Given the description of an element on the screen output the (x, y) to click on. 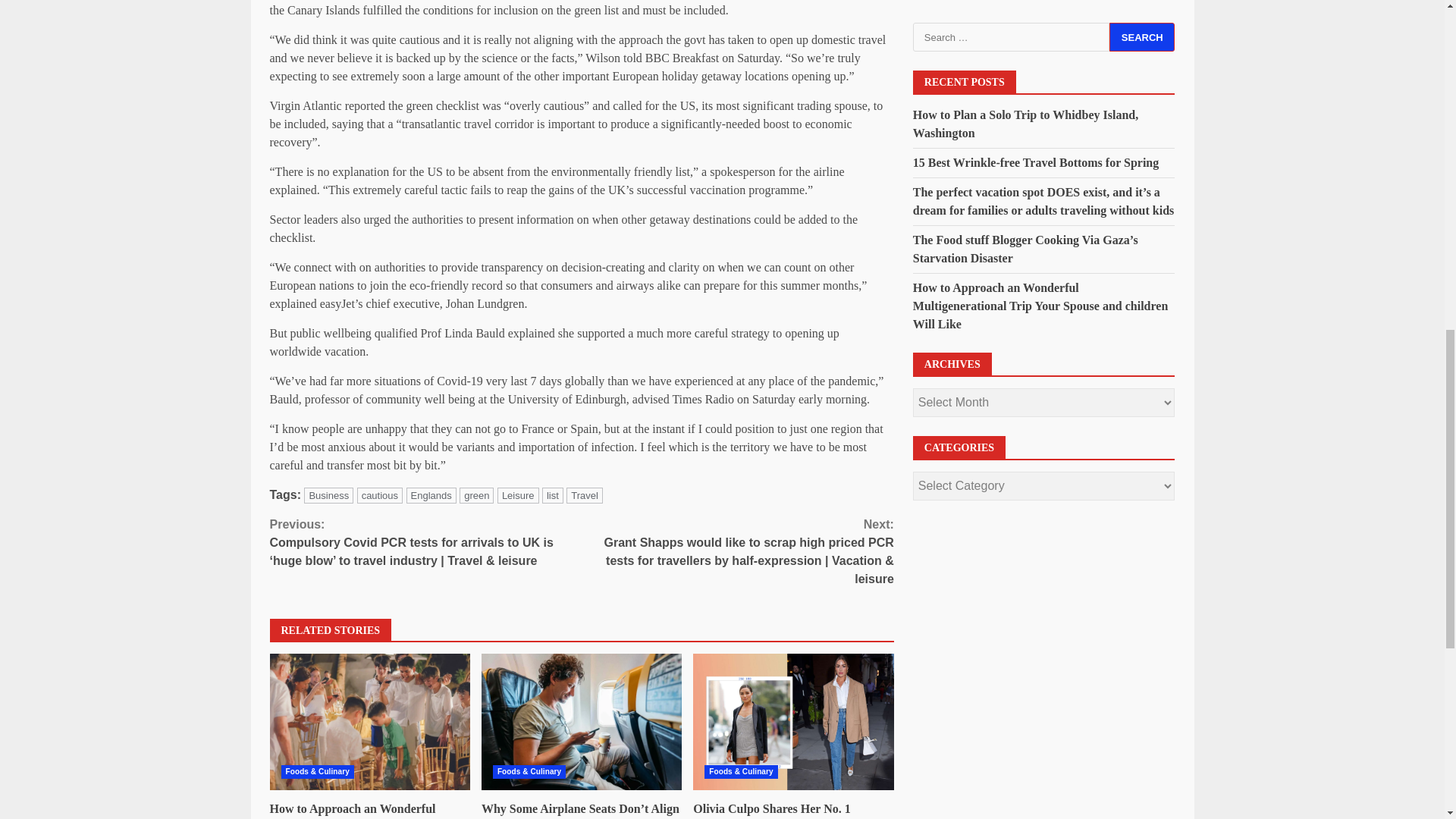
Olivia Culpo Shares Her No. 1 Skincare Rule for Traveling (771, 810)
Business (328, 495)
list (552, 495)
Leisure (517, 495)
Travel (584, 495)
Englands (431, 495)
cautious (379, 495)
green (476, 495)
Olivia Culpo Shares Her No. 1 Skincare Rule for Traveling (793, 721)
Olivia Culpo Shares Her No. 1 Skincare Rule for Traveling (793, 721)
